Given the description of an element on the screen output the (x, y) to click on. 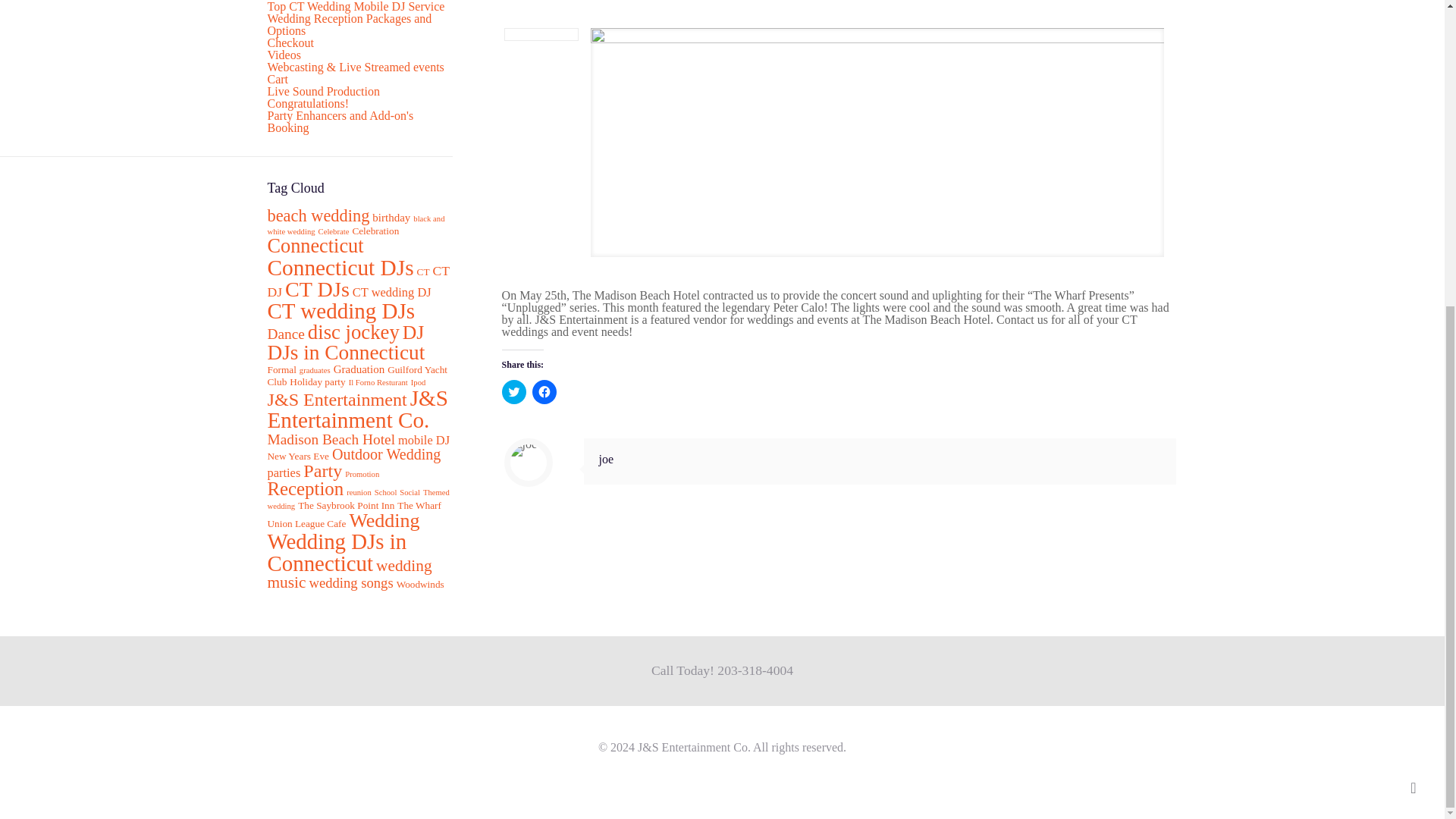
YouTube (722, 767)
Instagram (770, 767)
Click to share on Facebook (544, 392)
Facebook (673, 767)
Click to share on Twitter (513, 392)
Pinterest (754, 767)
Vimeo (705, 767)
LinkedIn (738, 767)
